Given the description of an element on the screen output the (x, y) to click on. 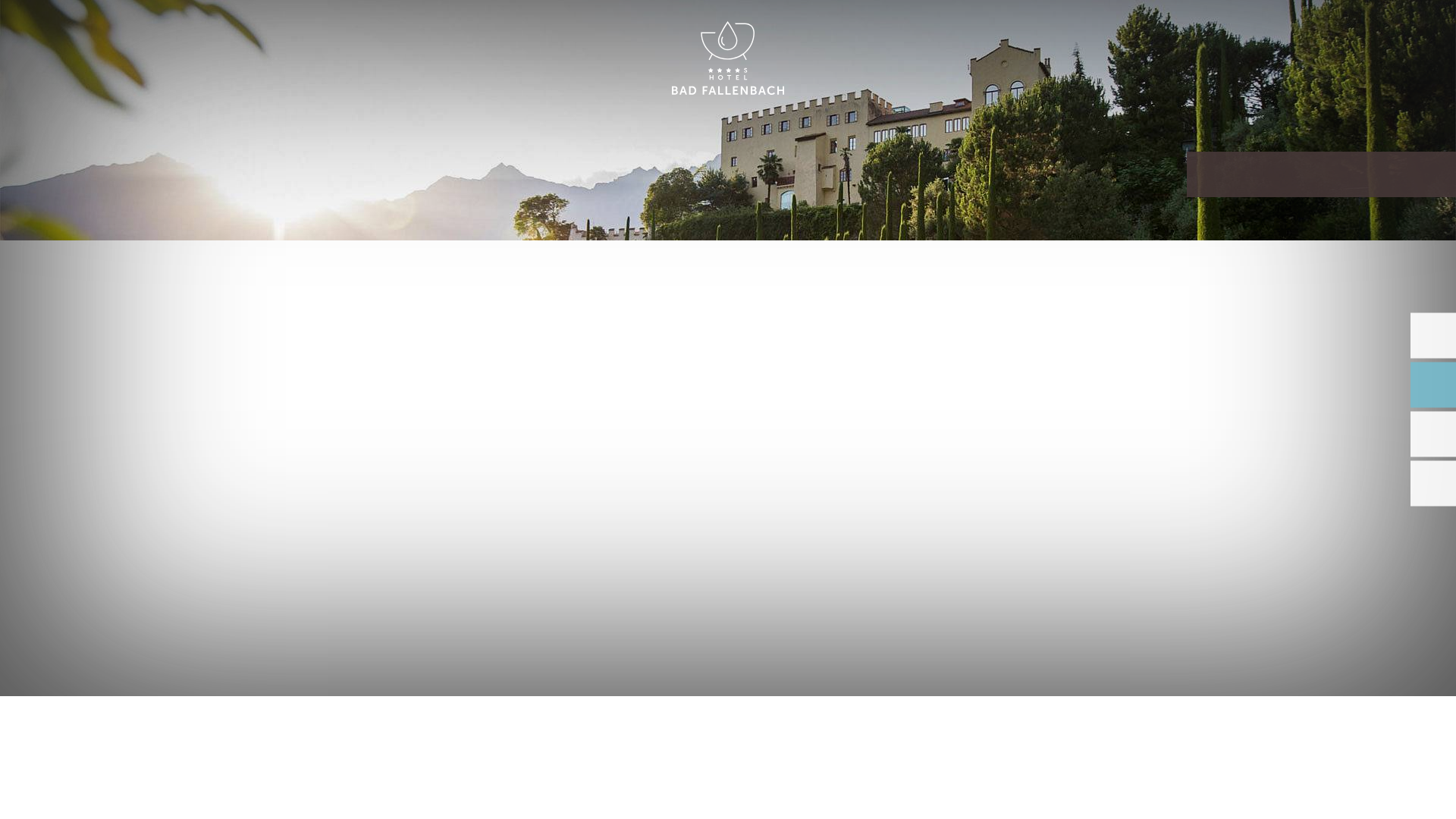
ENGLISH (1291, 29)
HOTEL BAD FALLENBACH (727, 59)
